Given the description of an element on the screen output the (x, y) to click on. 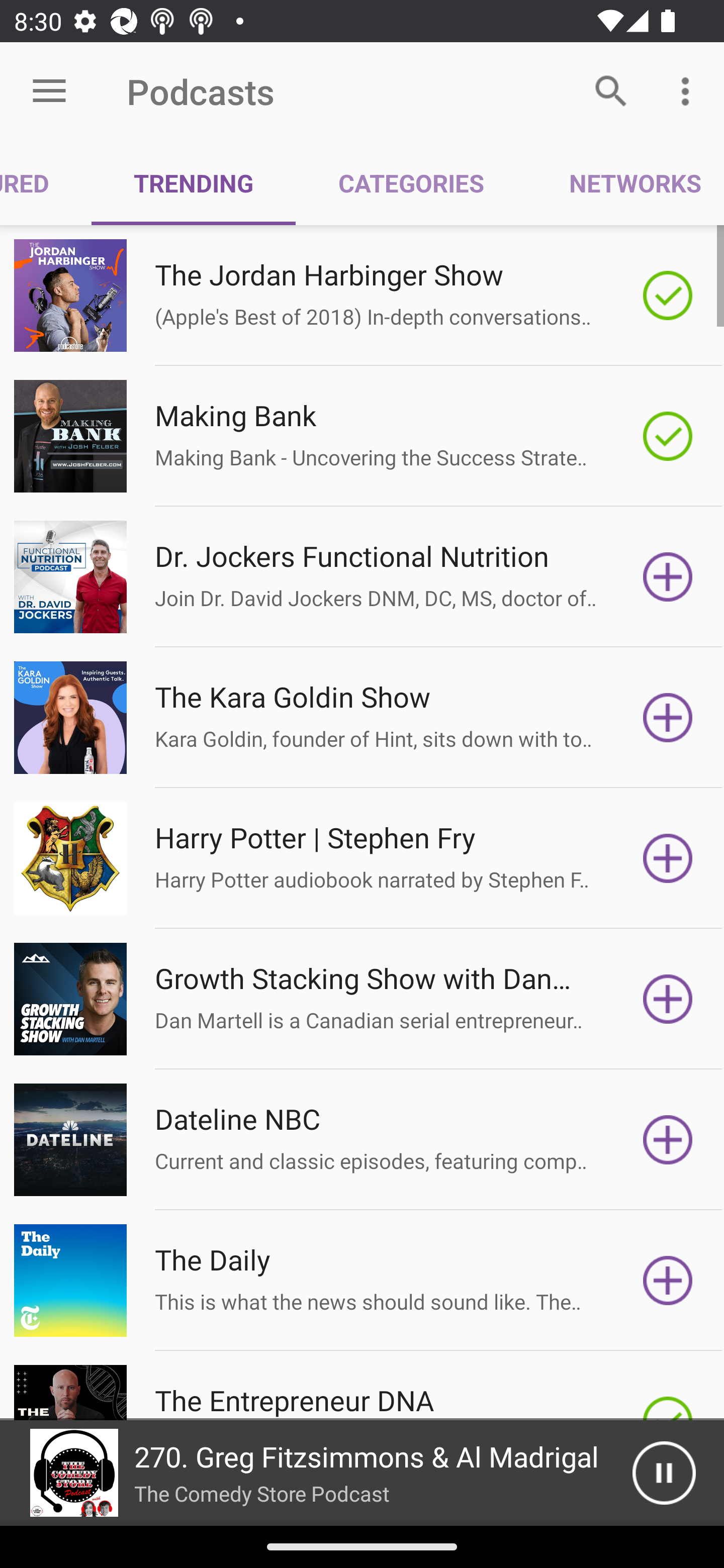
Open menu (49, 91)
Search (611, 90)
More options (688, 90)
TRENDING (193, 183)
CATEGORIES (410, 183)
NETWORKS (625, 183)
Subscribed (667, 295)
Subscribed (667, 435)
Subscribe (667, 576)
Subscribe (667, 717)
Subscribe (667, 858)
Subscribe (667, 998)
Subscribe (667, 1139)
Subscribe (667, 1280)
Pause (663, 1472)
